Given the description of an element on the screen output the (x, y) to click on. 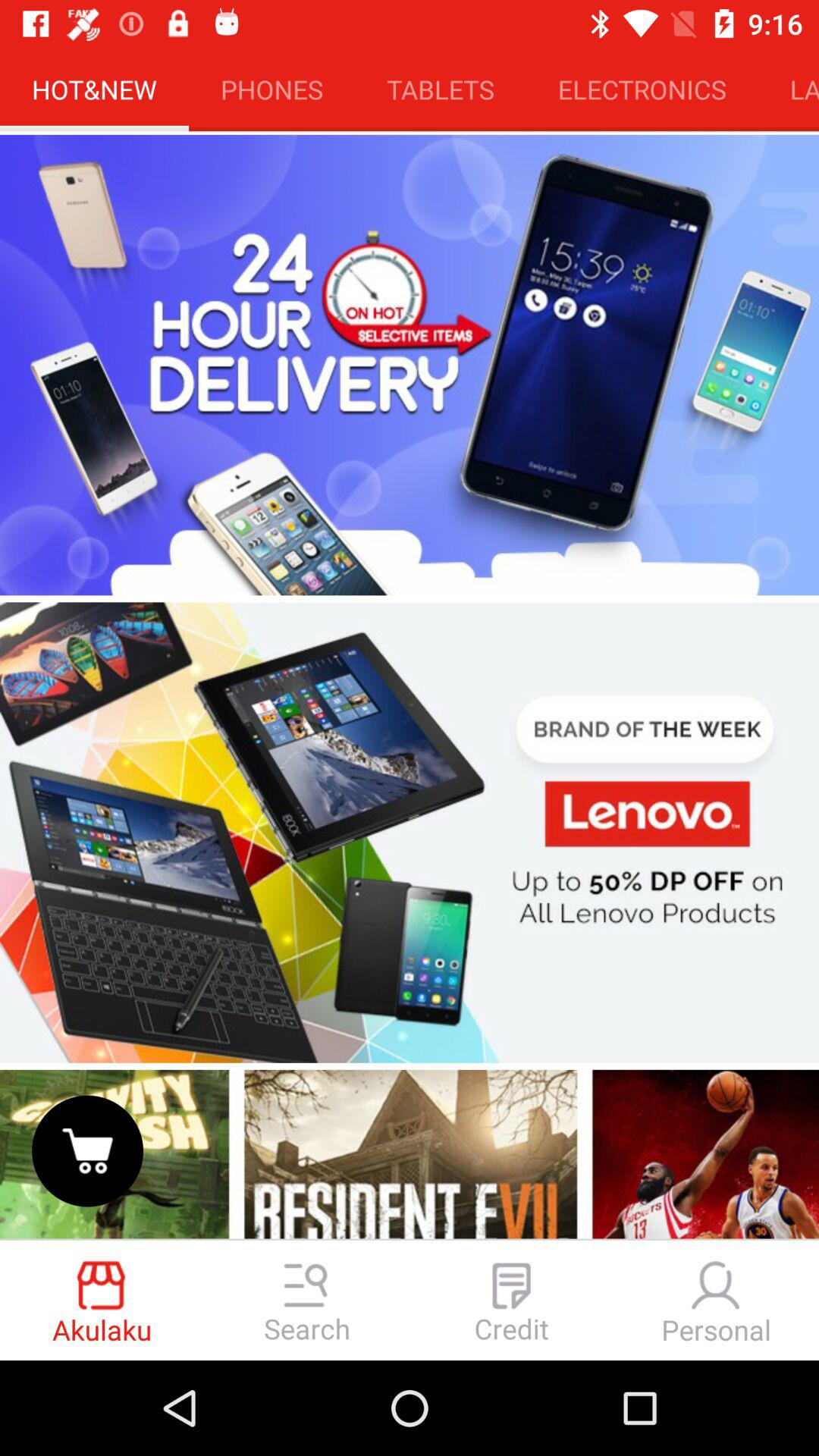
24 hour delivery on selective items (409, 364)
